Given the description of an element on the screen output the (x, y) to click on. 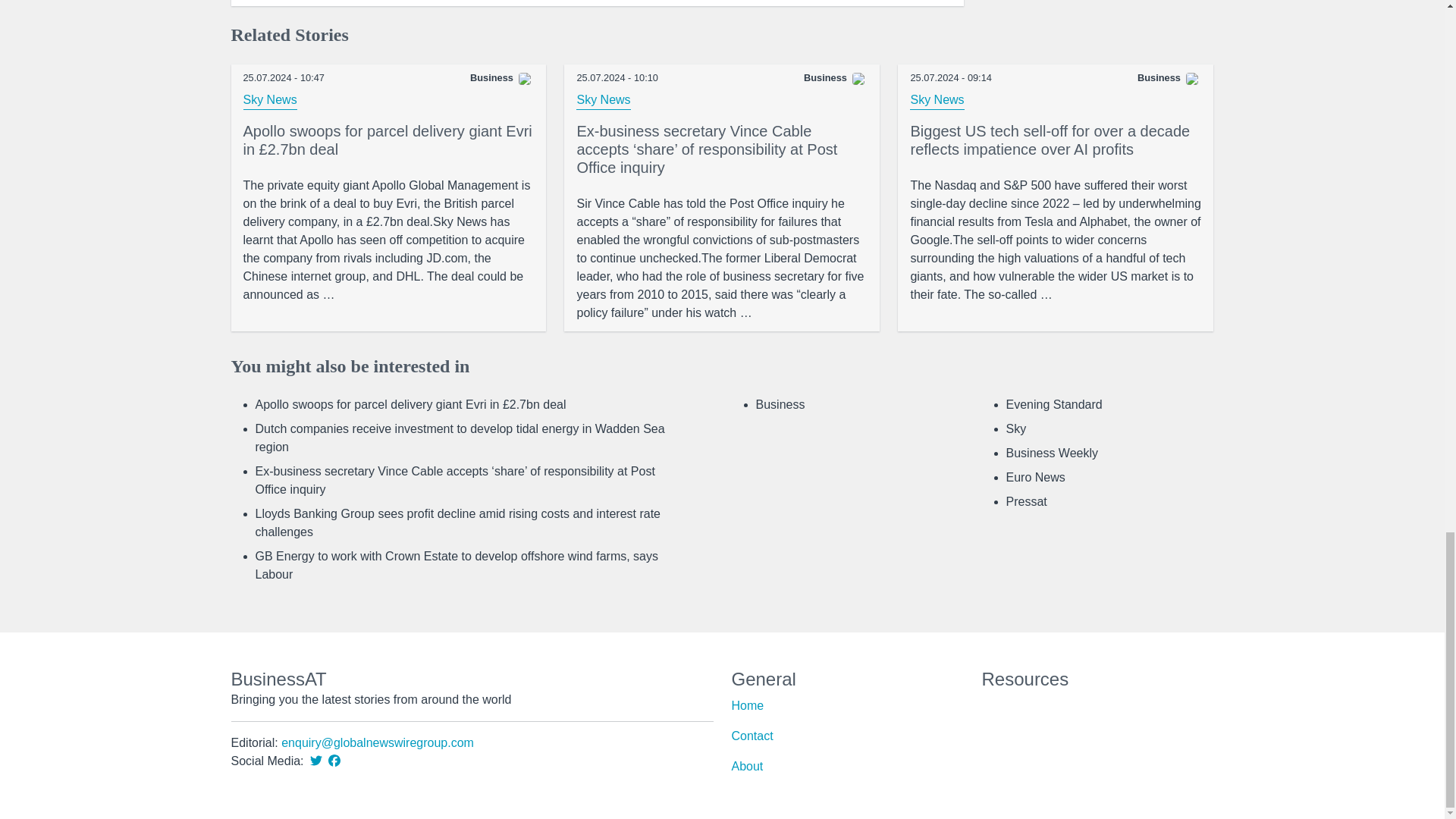
Sky News (270, 99)
Evening Standard (1054, 404)
Sky News (603, 99)
Business Weekly (1051, 452)
Sky News (936, 99)
Business (780, 404)
Sky (1016, 428)
Euro News (1035, 477)
Pressat (1026, 501)
